Given the description of an element on the screen output the (x, y) to click on. 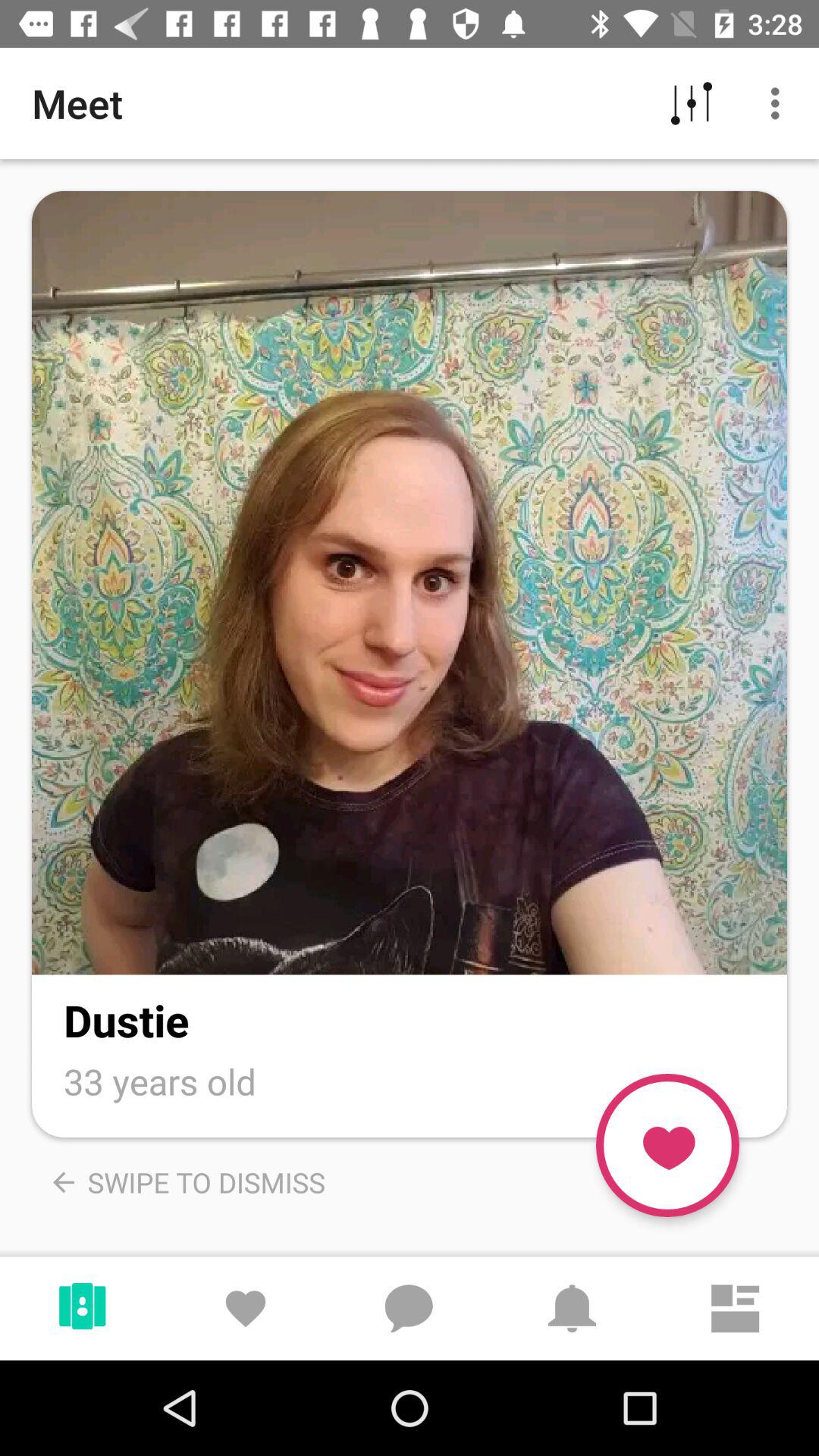
click item next to swipe to dismiss item (667, 1145)
